Given the description of an element on the screen output the (x, y) to click on. 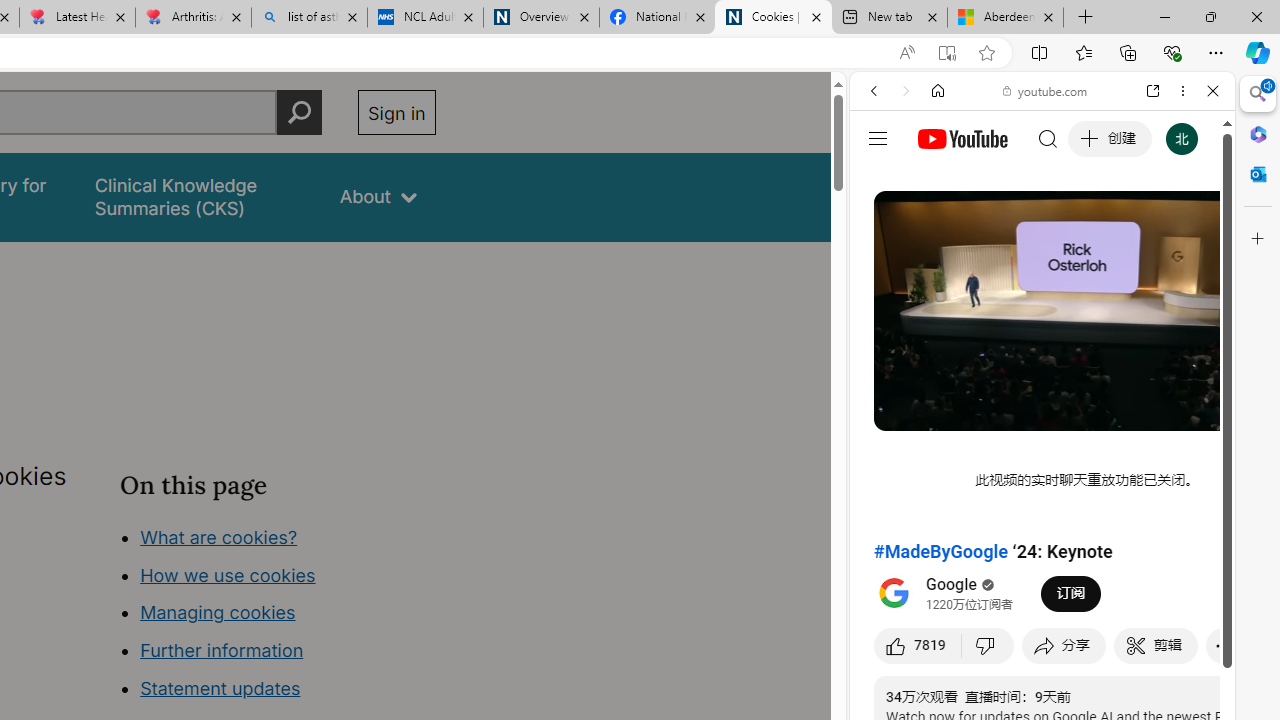
Close Customize pane (1258, 239)
Google (1042, 494)
Web scope (882, 180)
Class: b_serphb (1190, 229)
Music (1042, 543)
About (378, 196)
IMAGES (939, 228)
Search Filter, WEB (882, 228)
#MadeByGoogle (941, 551)
Search Filter, IMAGES (939, 228)
